Given the description of an element on the screen output the (x, y) to click on. 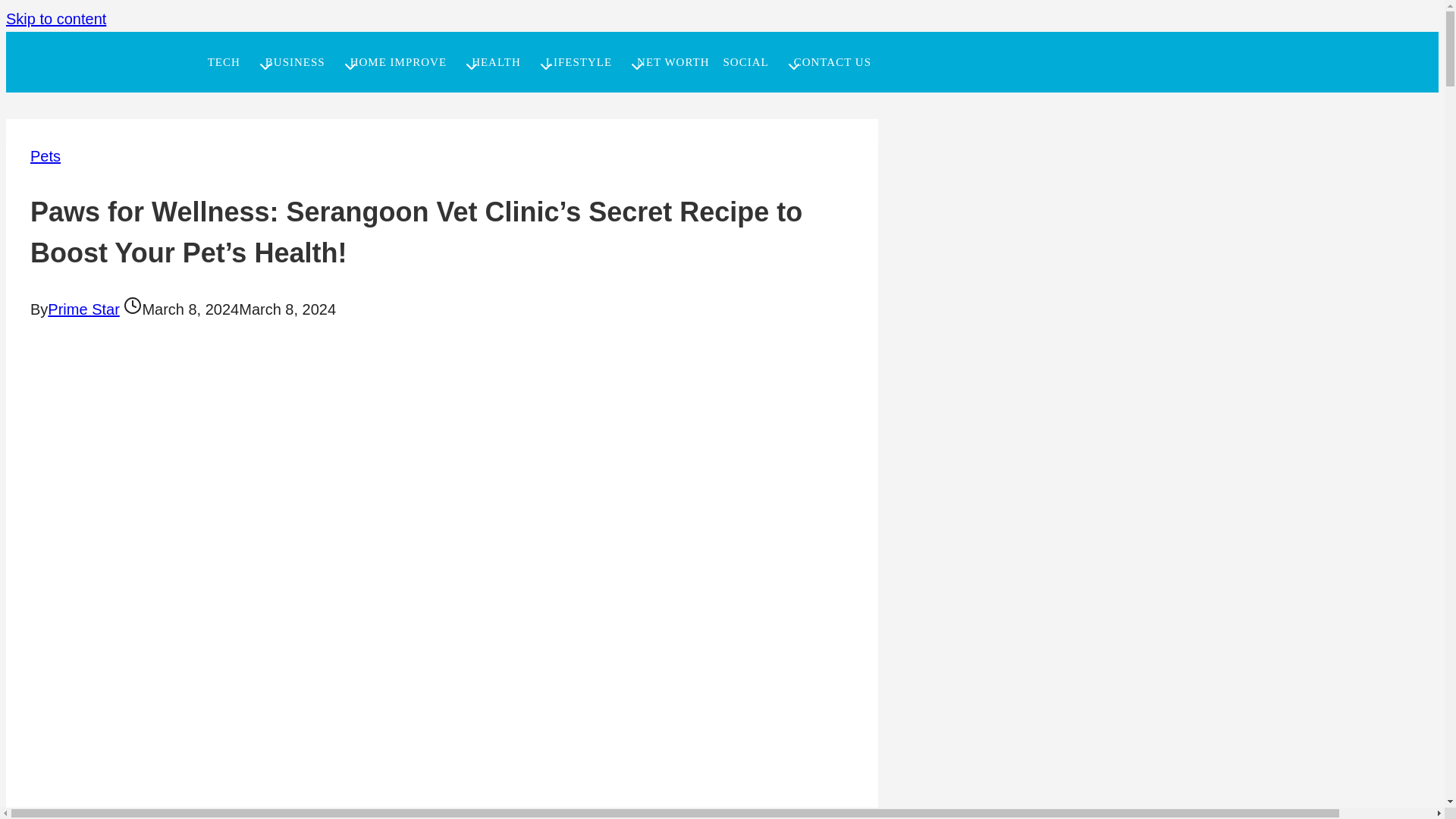
Skip to content (590, 62)
EXPAND (55, 18)
Hours (307, 62)
EXPAND (793, 66)
EXPAND (132, 305)
EXPAND (471, 66)
Skip to content (265, 66)
EXPAND (236, 62)
EXPAND (636, 66)
